Given the description of an element on the screen output the (x, y) to click on. 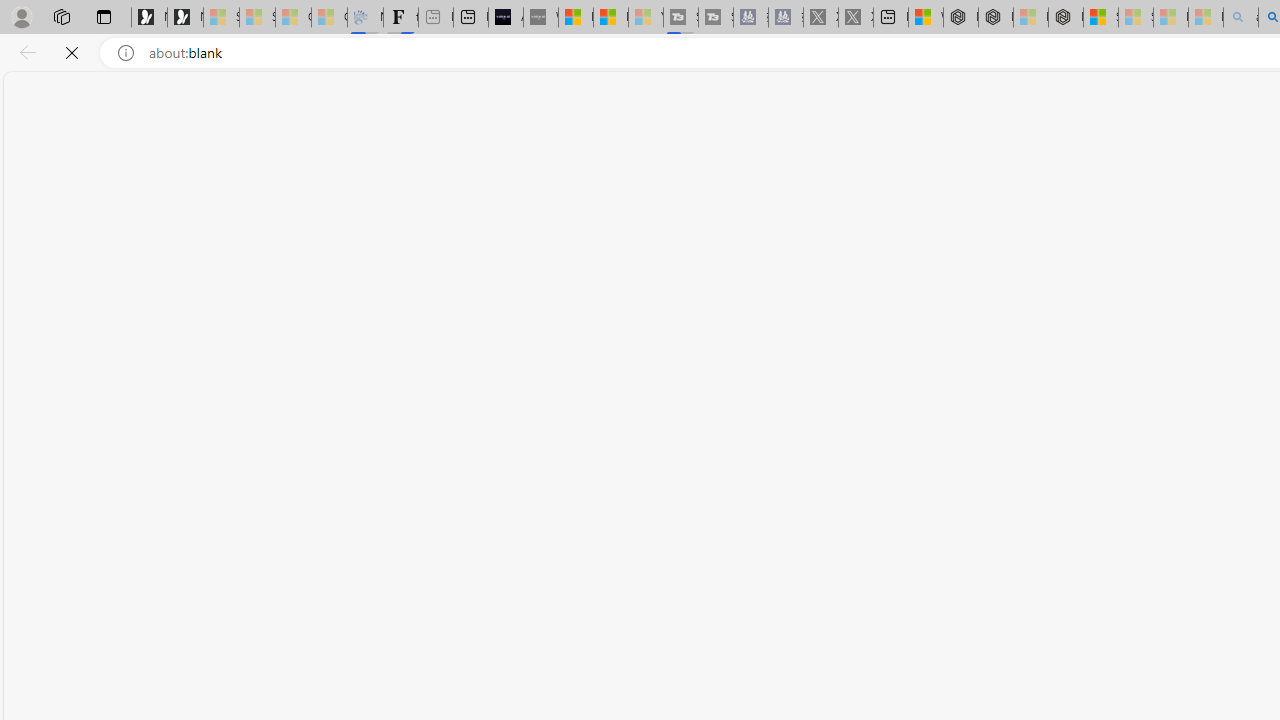
Streaming Coverage | T3 - Sleeping (680, 17)
amazon - Search - Sleeping (1240, 17)
